Given the description of an element on the screen output the (x, y) to click on. 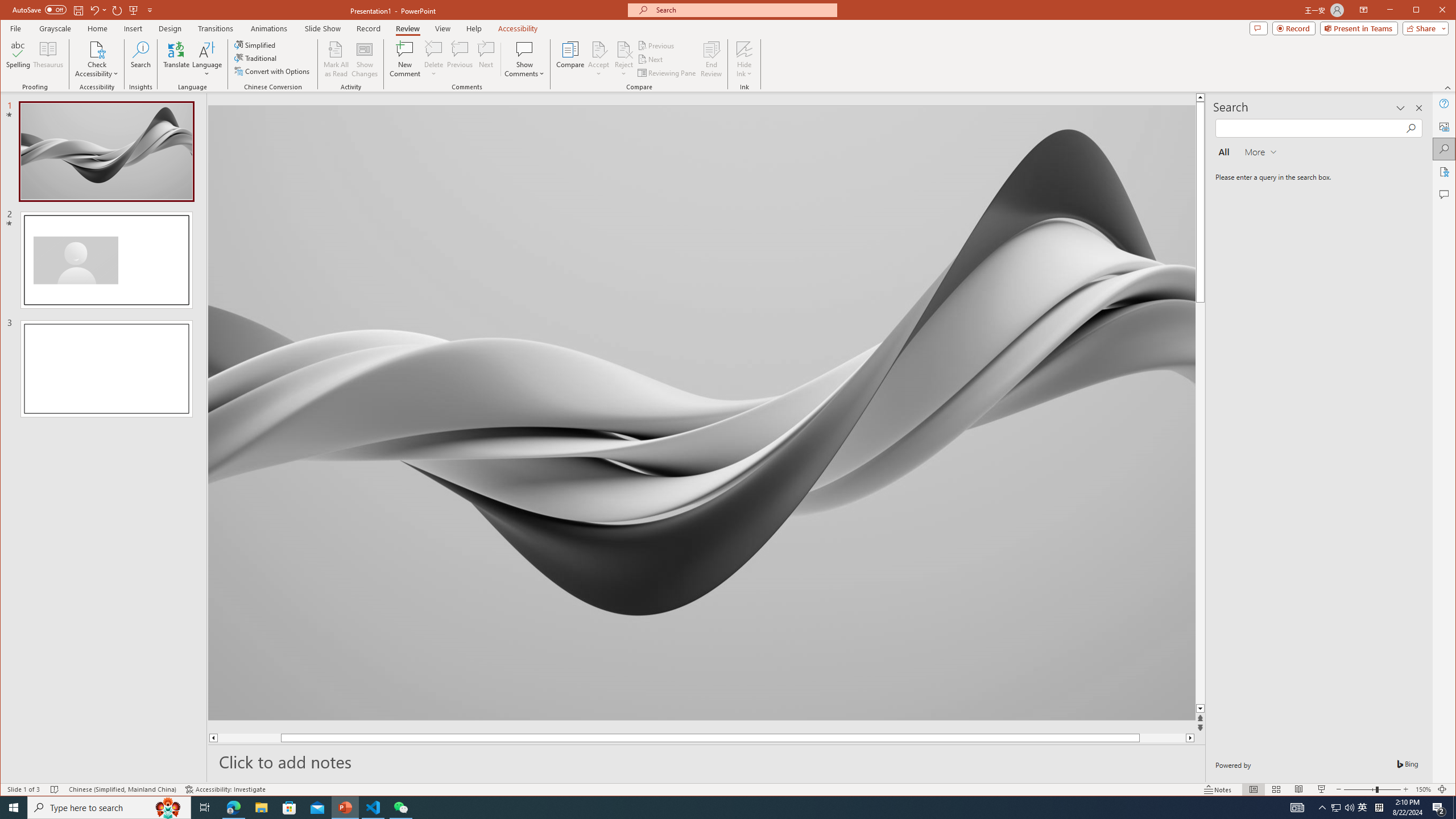
Simplified (255, 44)
Reviewing Pane (667, 72)
Language (207, 59)
